Given the description of an element on the screen output the (x, y) to click on. 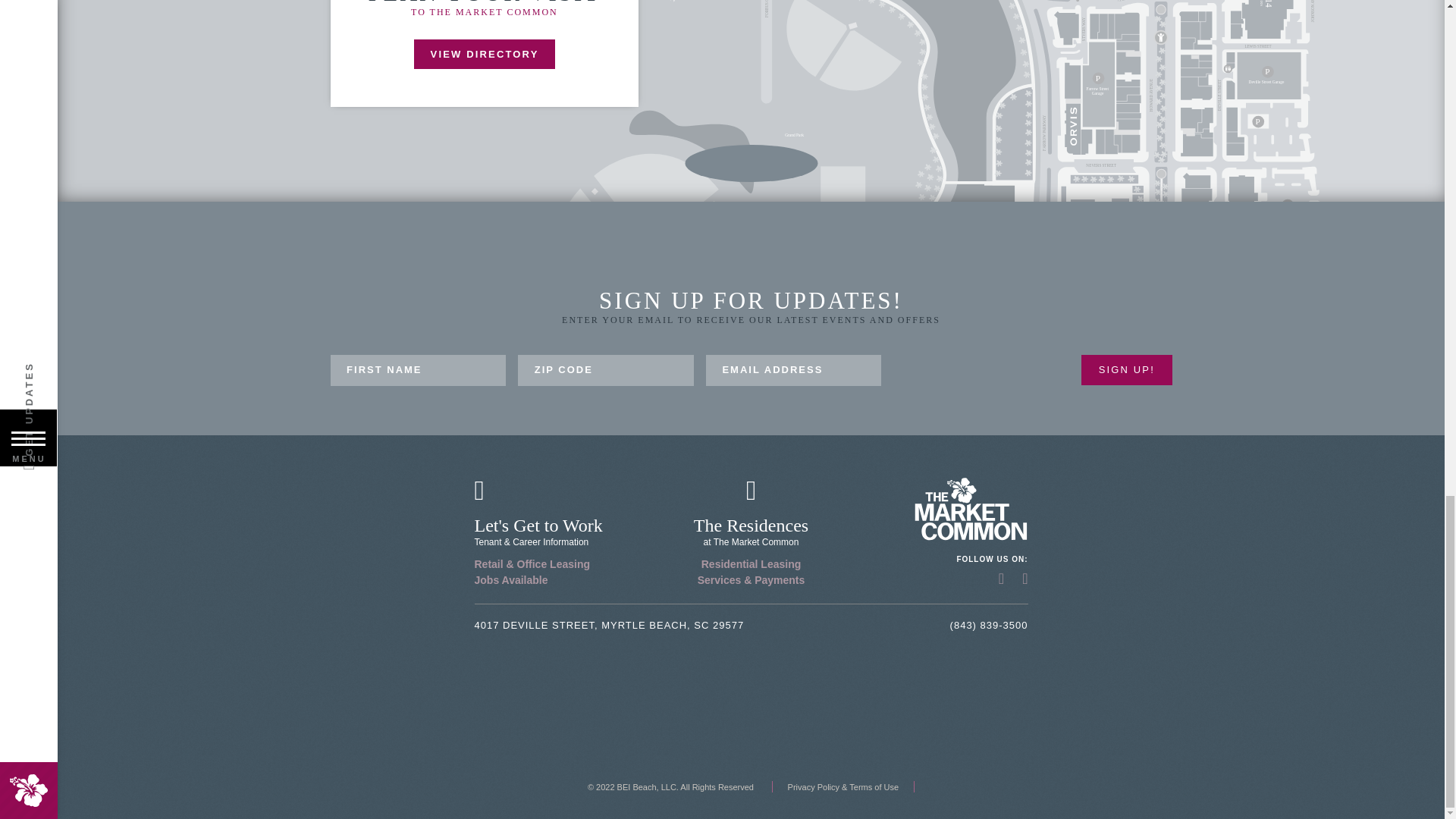
4017 DEVILLE STREET, MYRTLE BEACH, SC 29577 (609, 625)
Jobs Available (511, 580)
Sign Up! (1126, 369)
Residential Leasing (750, 563)
Sign Up! (1126, 369)
VIEW DIRECTORY (483, 53)
